Given the description of an element on the screen output the (x, y) to click on. 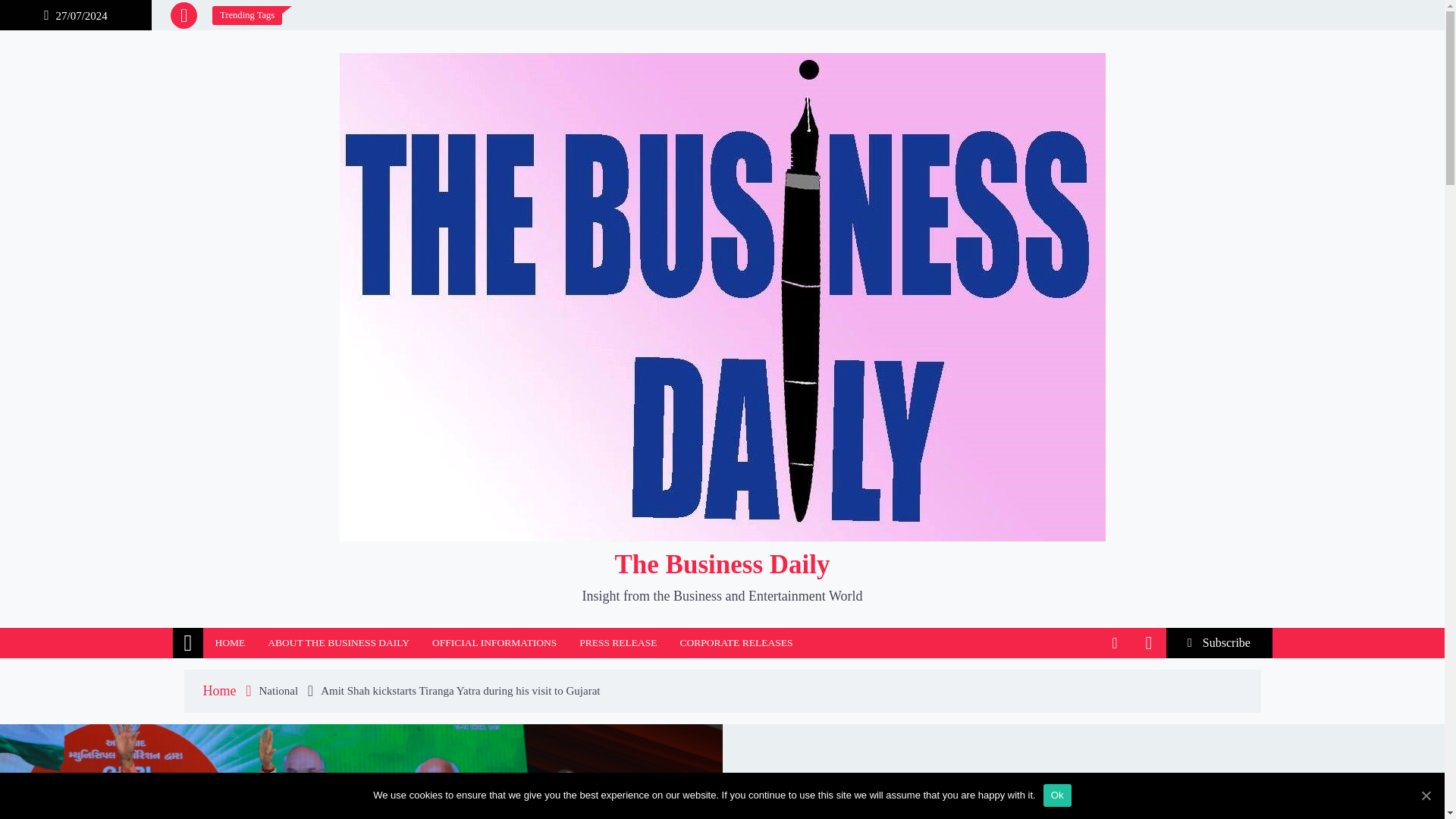
CORPORATE RELEASES (736, 643)
HOME (229, 643)
Home (223, 690)
Home (188, 643)
OFFICIAL INFORMATIONS (493, 643)
The Business Daily (721, 564)
National (282, 690)
Subscribe (1219, 643)
PRESS RELEASE (617, 643)
National (836, 816)
ABOUT THE BUSINESS DAILY (338, 643)
